Given the description of an element on the screen output the (x, y) to click on. 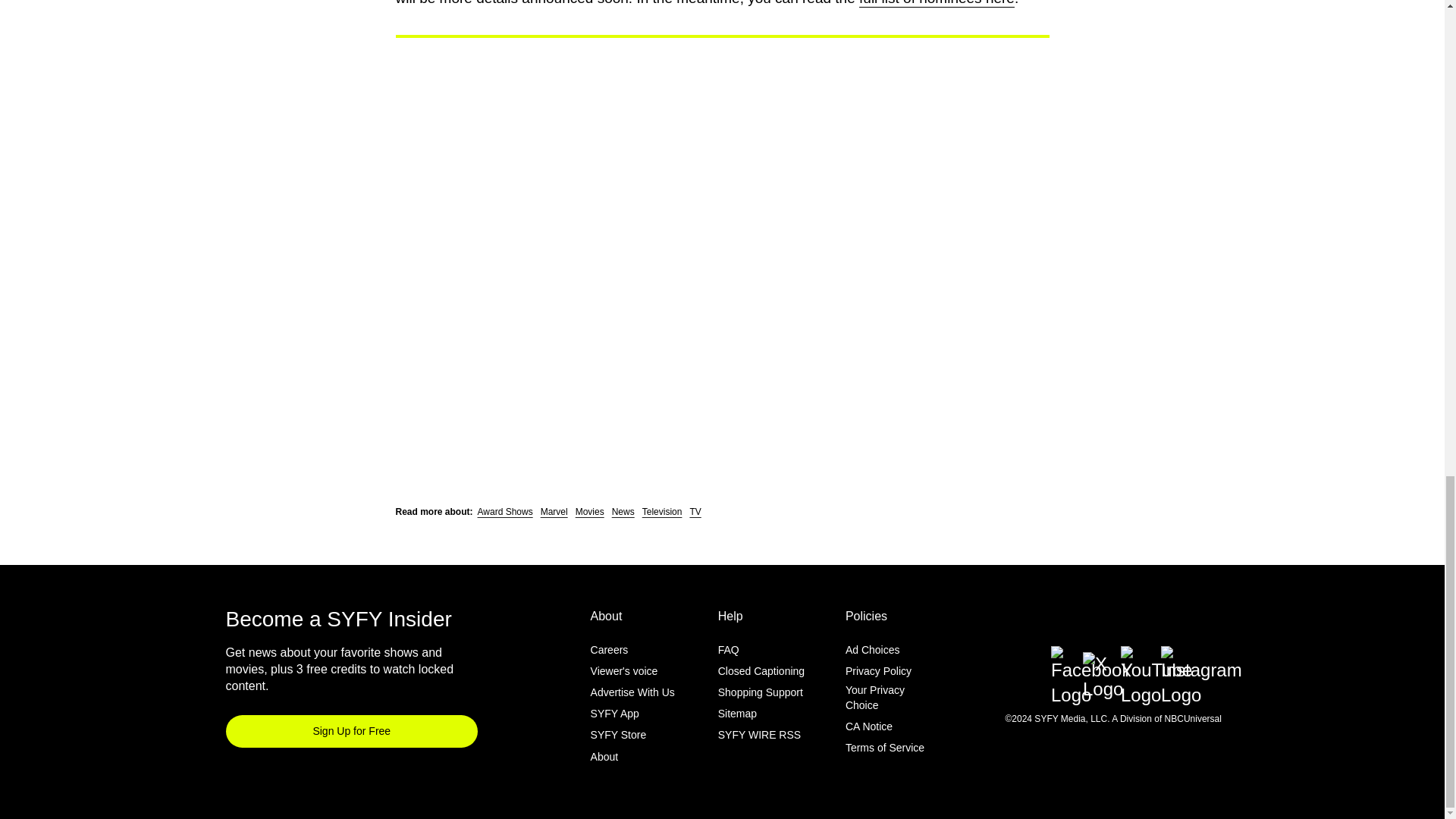
Marvel (553, 511)
News (622, 511)
Television (662, 511)
full list of nominees here (936, 2)
Advertise With Us (633, 692)
Movies (589, 511)
Award Shows (504, 511)
